Given the description of an element on the screen output the (x, y) to click on. 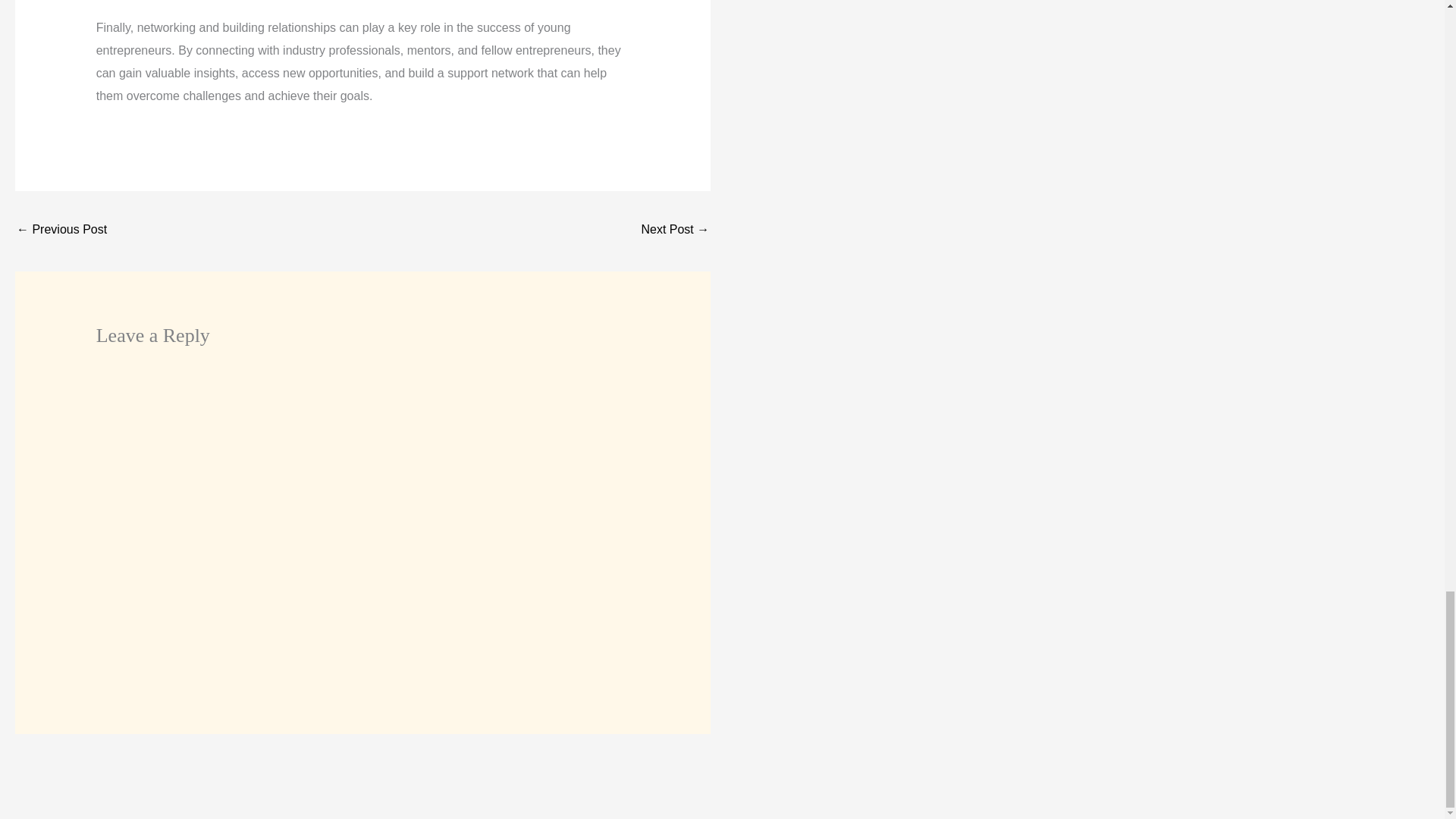
Why Entrepreneurs Succeed (674, 230)
